Given the description of an element on the screen output the (x, y) to click on. 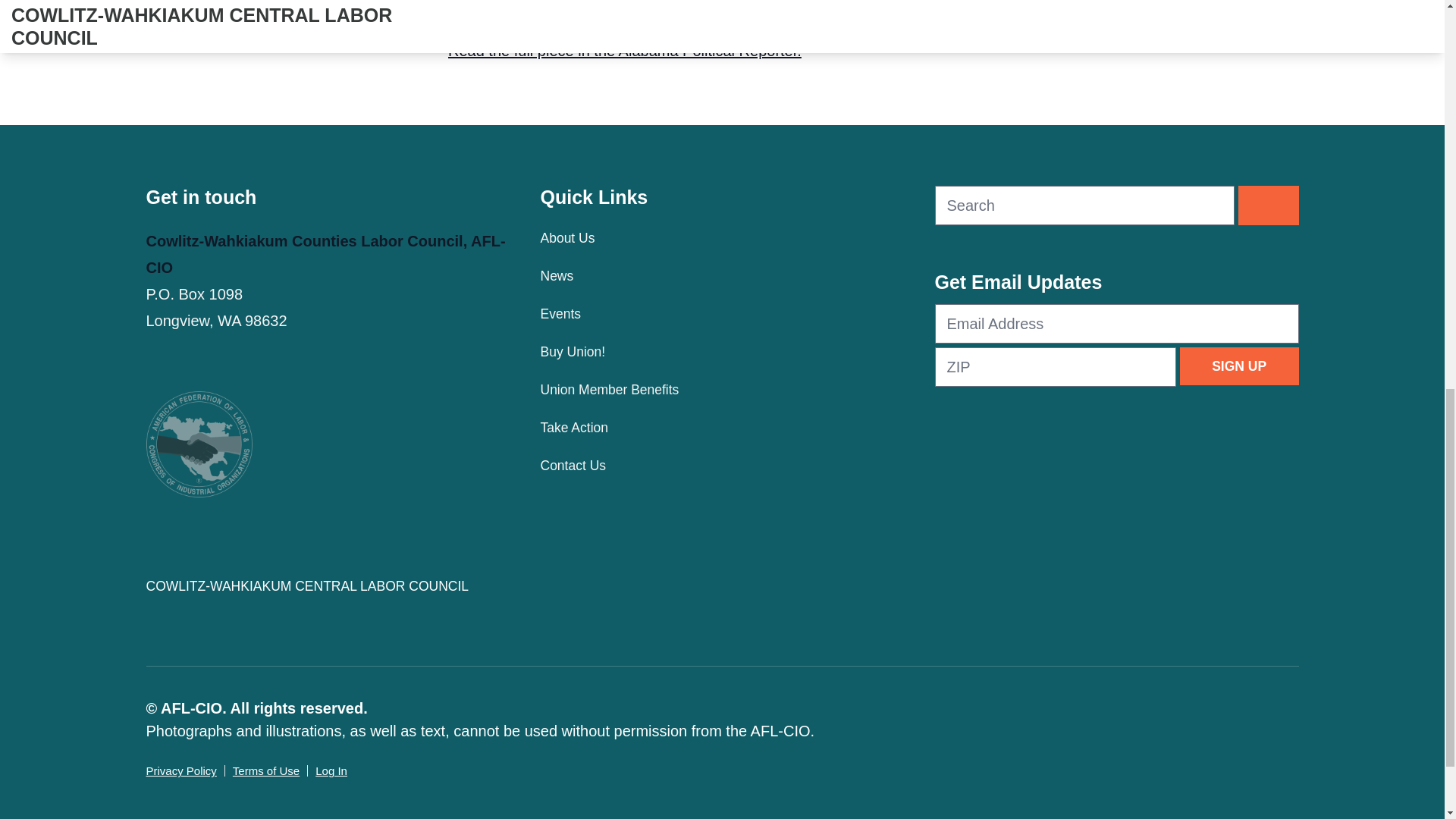
Events (722, 313)
About Us (722, 238)
COWLITZ-WAHKIAKUM CENTRAL LABOR COUNCIL (327, 585)
News (722, 275)
Union Member Benefits (722, 389)
Buy Union! (722, 351)
Take Action (722, 427)
Read the full piece in the Alabama Political Reporter. (625, 50)
